Given the description of an element on the screen output the (x, y) to click on. 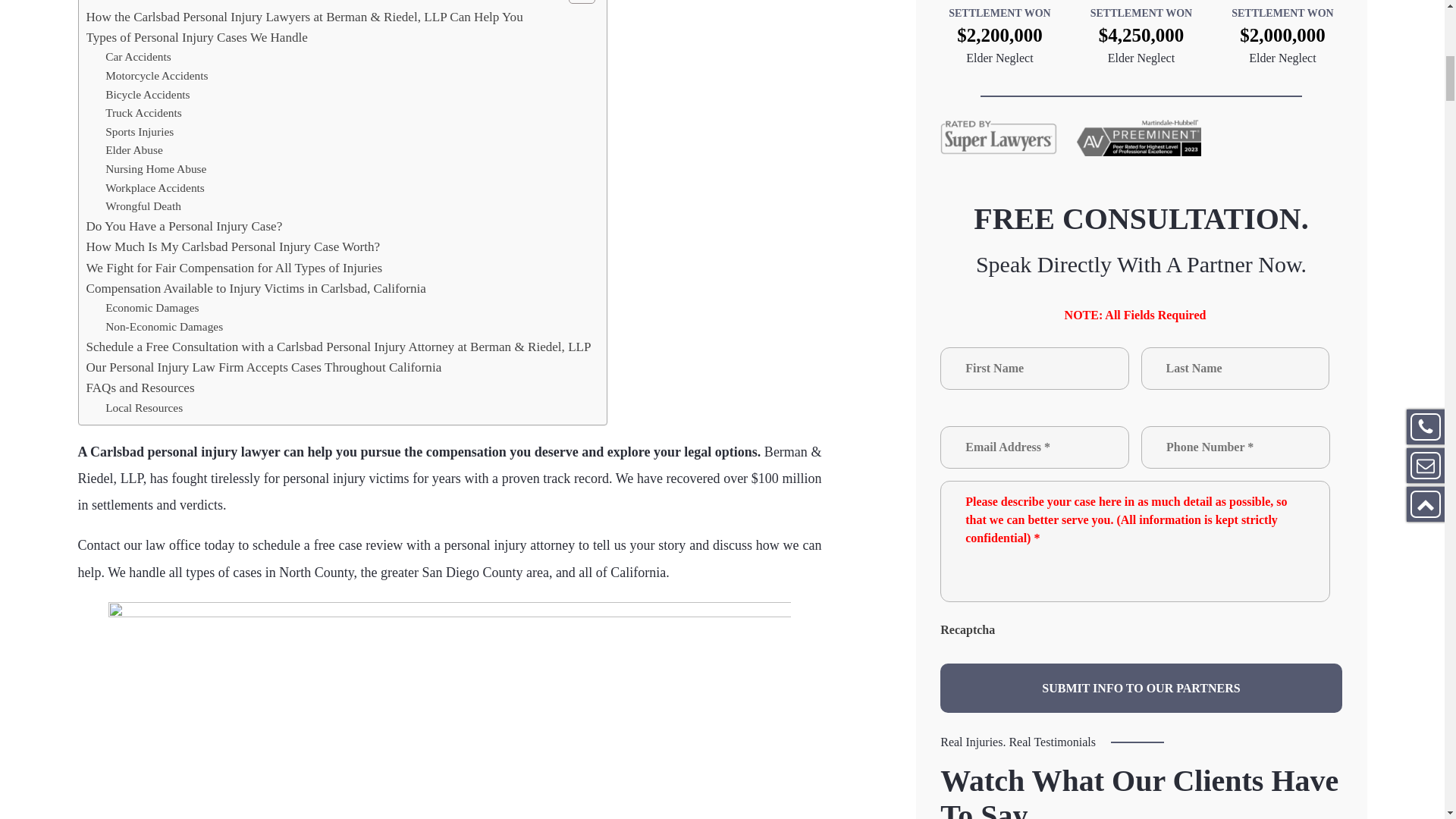
Car Accidents (137, 56)
Truck Accidents (143, 113)
Nursing Home Abuse (155, 169)
Types of Personal Injury Cases We Handle (196, 37)
Workplace Accidents (154, 188)
Do You Have a Personal Injury Case? (183, 226)
Sports Injuries (138, 131)
Wrongful Death (142, 206)
Motorcycle Accidents (156, 75)
Elder Abuse (133, 149)
